Given the description of an element on the screen output the (x, y) to click on. 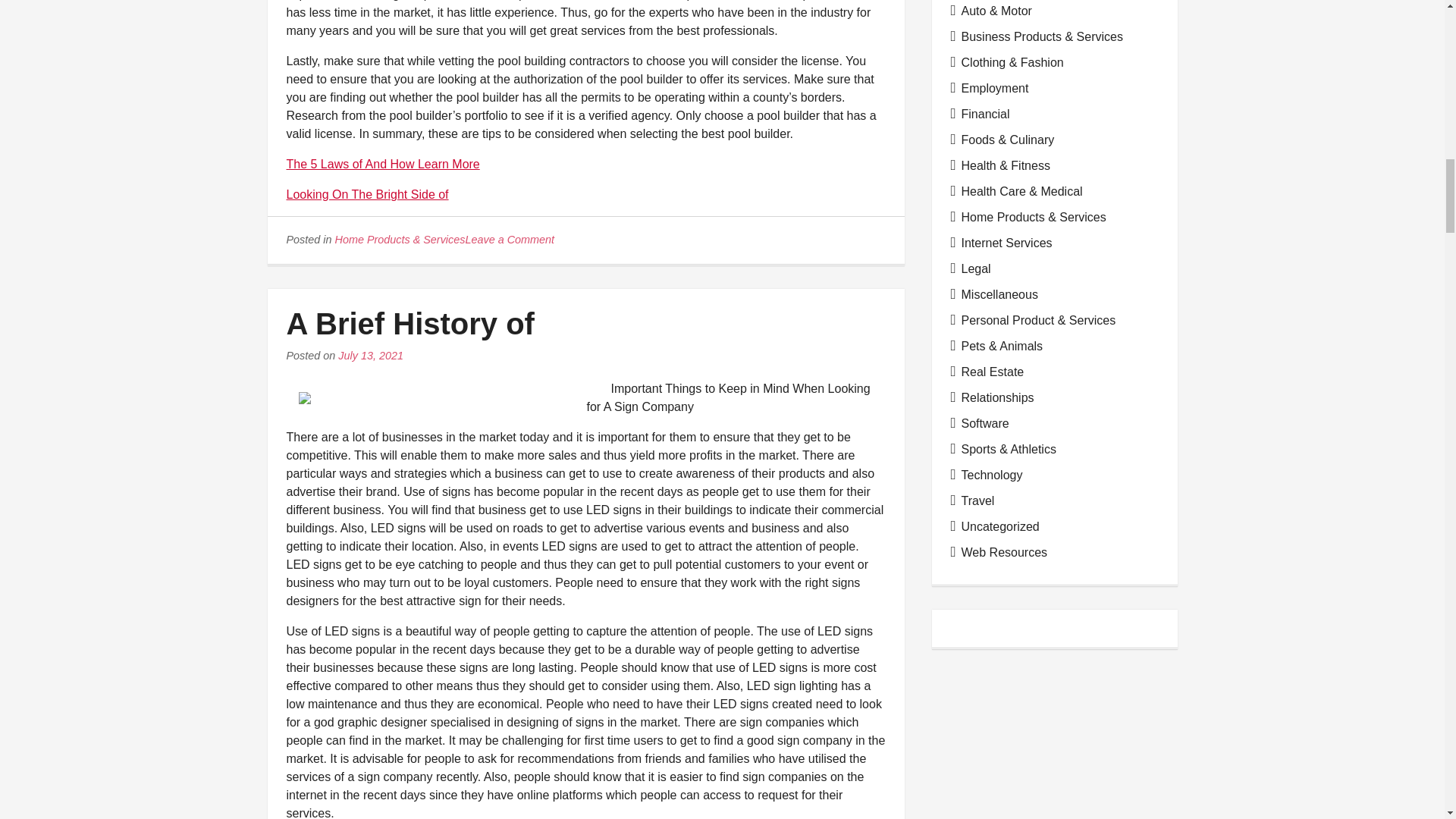
A Brief History of (410, 323)
The 5 Laws of And How Learn More (383, 164)
July 13, 2021 (370, 355)
Looking On The Bright Side of (367, 194)
